Given the description of an element on the screen output the (x, y) to click on. 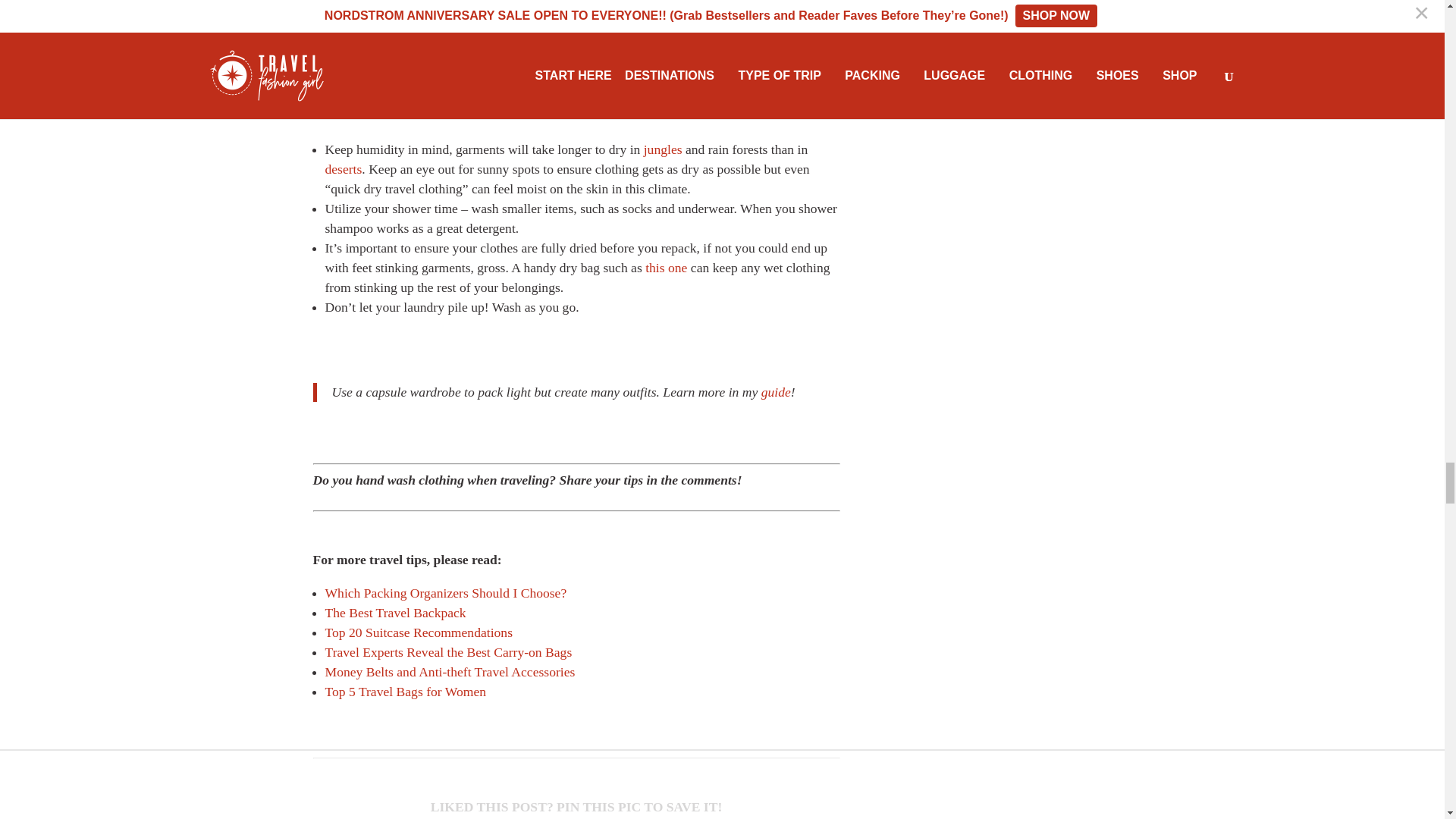
The Ultimate Jungle Trekking Gear Packing List (662, 149)
What to Pack for Desert Adventures, Safaris, and other Trips (342, 168)
Best Money Belts and Anti-theft Travel Accessories (449, 671)
Farpoint Osprey Packs: The Best Travel Backpacks (394, 612)
